Given the description of an element on the screen output the (x, y) to click on. 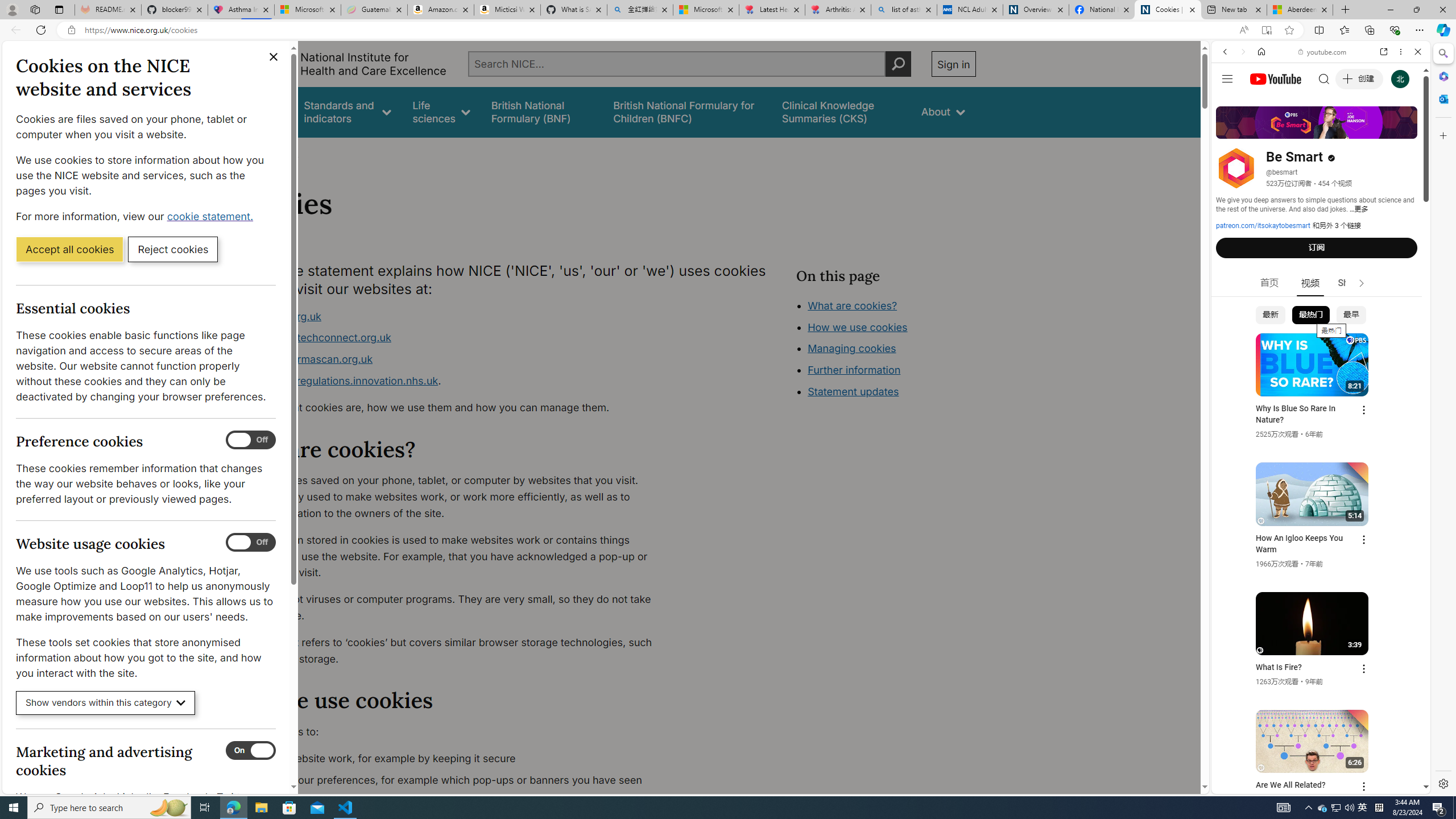
US[ju] (1249, 785)
Show vendors within this category (105, 703)
Reject cookies (173, 248)
false (841, 111)
YouTube (1315, 655)
